Given the description of an element on the screen output the (x, y) to click on. 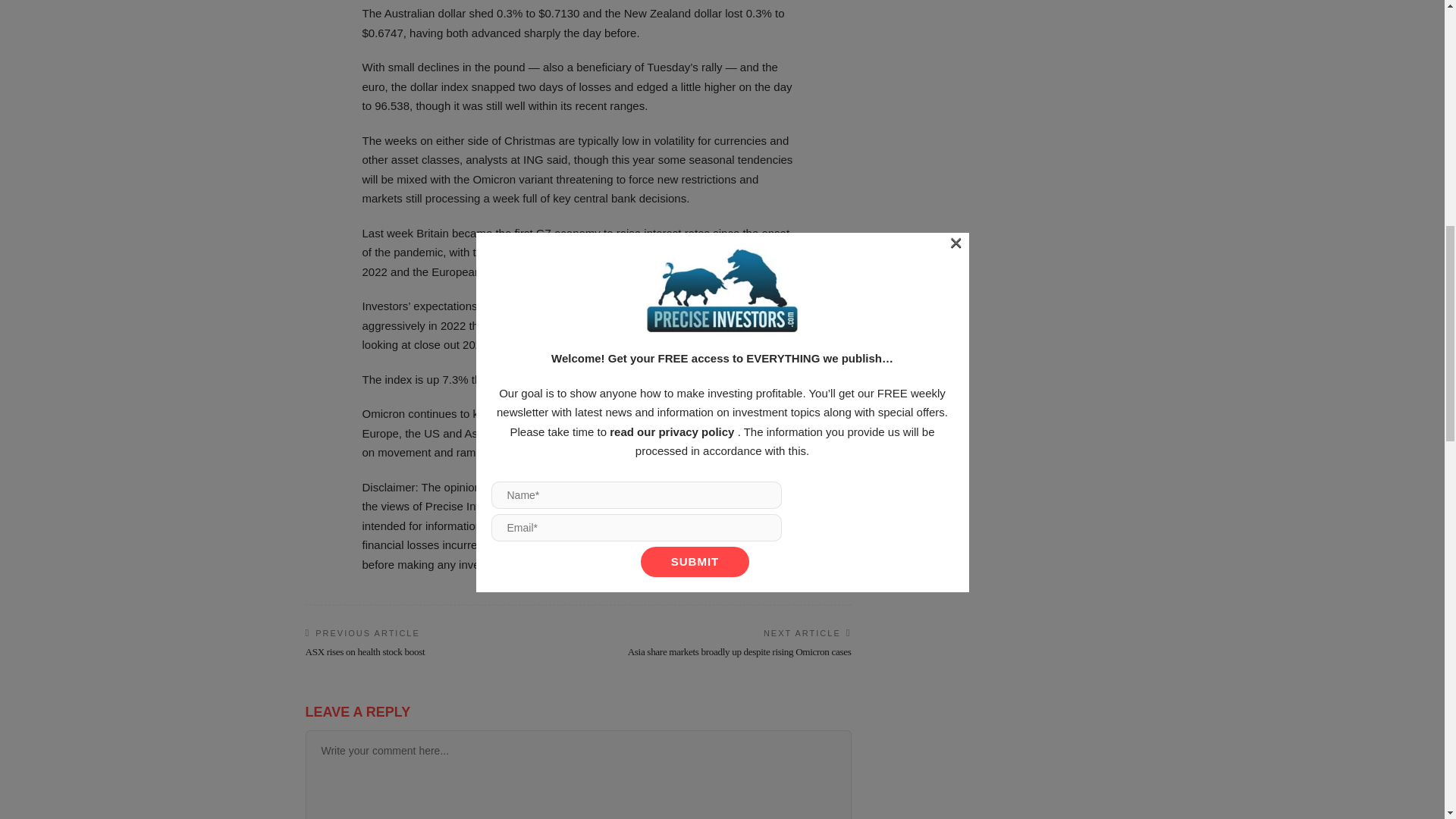
ASX rises on health stock boost (364, 651)
Asia share markets broadly up despite rising Omicron cases (739, 651)
Asia share markets broadly up despite rising Omicron cases (739, 651)
ASX rises on health stock boost (364, 651)
